Given the description of an element on the screen output the (x, y) to click on. 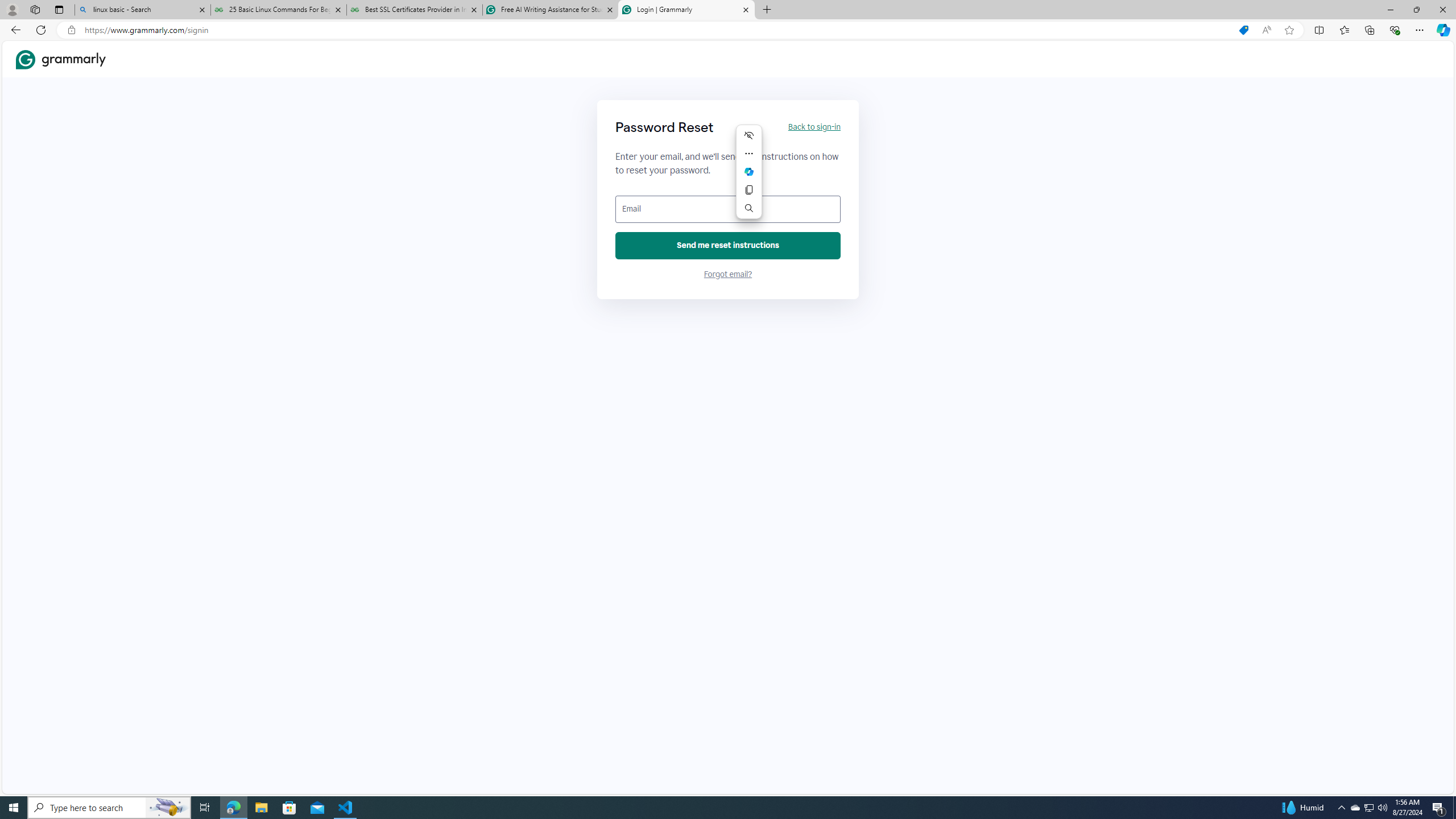
Send me reset instructions (727, 245)
25 Basic Linux Commands For Beginners - GeeksforGeeks (277, 9)
Grammarly Home (61, 58)
Back to sign-in (813, 127)
